Given the description of an element on the screen output the (x, y) to click on. 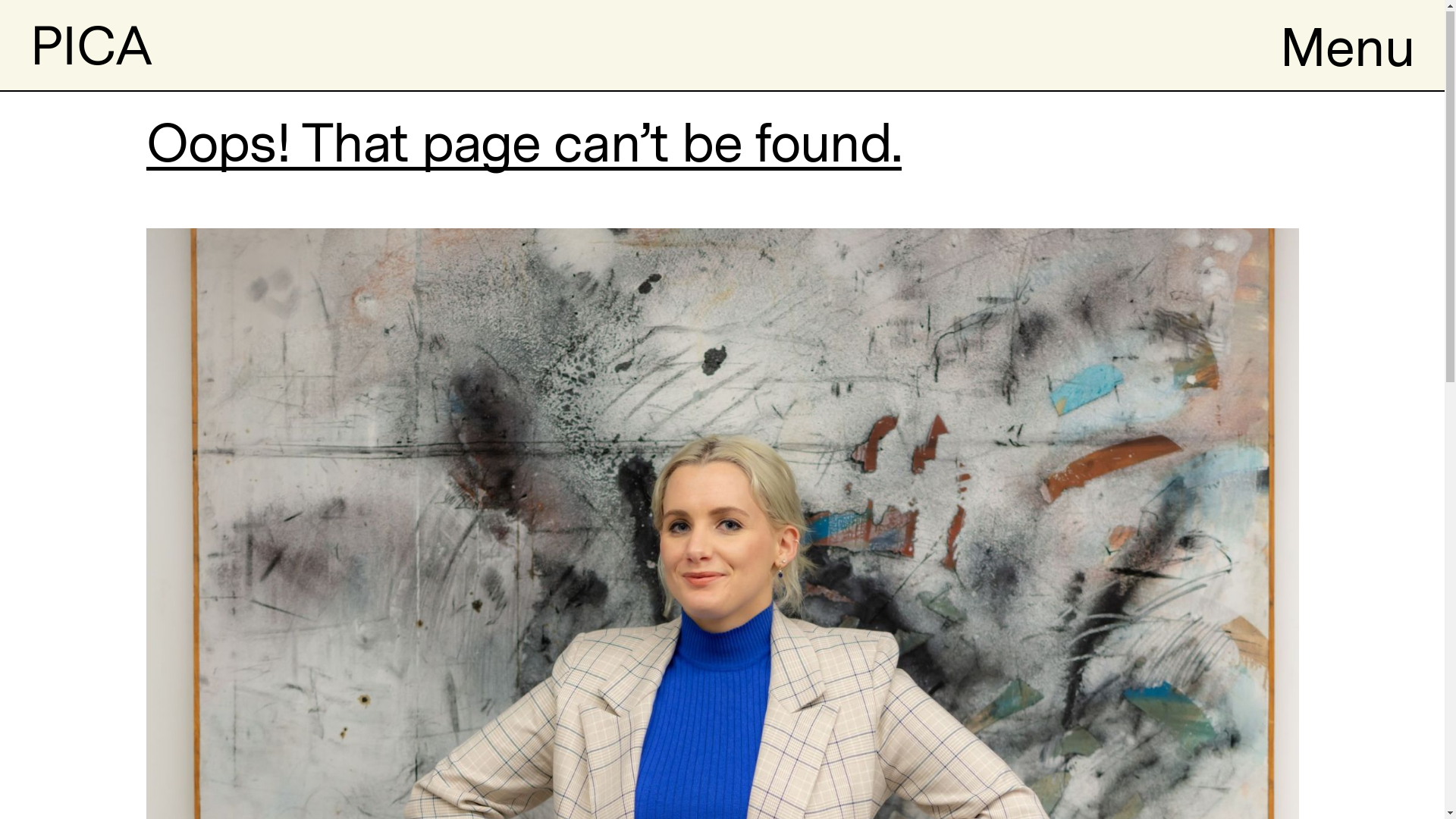
Menu
Menu Element type: text (1347, 46)
PICA Element type: text (91, 45)
